Given the description of an element on the screen output the (x, y) to click on. 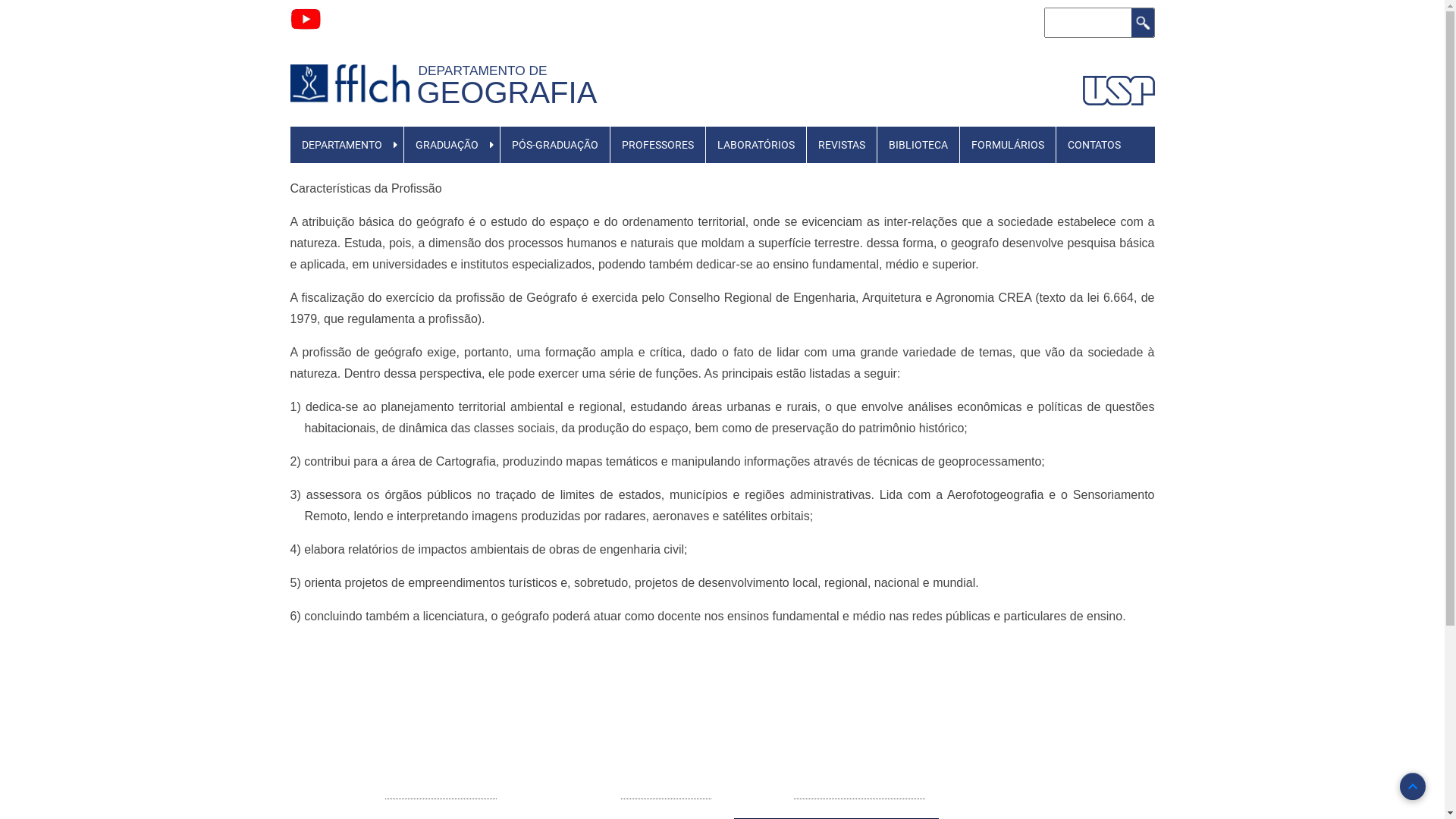
DEPARTAMENTO Element type: text (340, 144)
Back to Top Element type: hover (1412, 786)
GEOGRAFIA Element type: text (507, 92)
BIBLIOTECA Element type: text (918, 144)
CONTATOS Element type: text (1094, 144)
DEPARTAMENTO DE   Element type: text (486, 70)
Buscar Element type: text (1142, 22)
PROFESSORES Element type: text (657, 144)
REVISTAS Element type: text (841, 144)
